Given the description of an element on the screen output the (x, y) to click on. 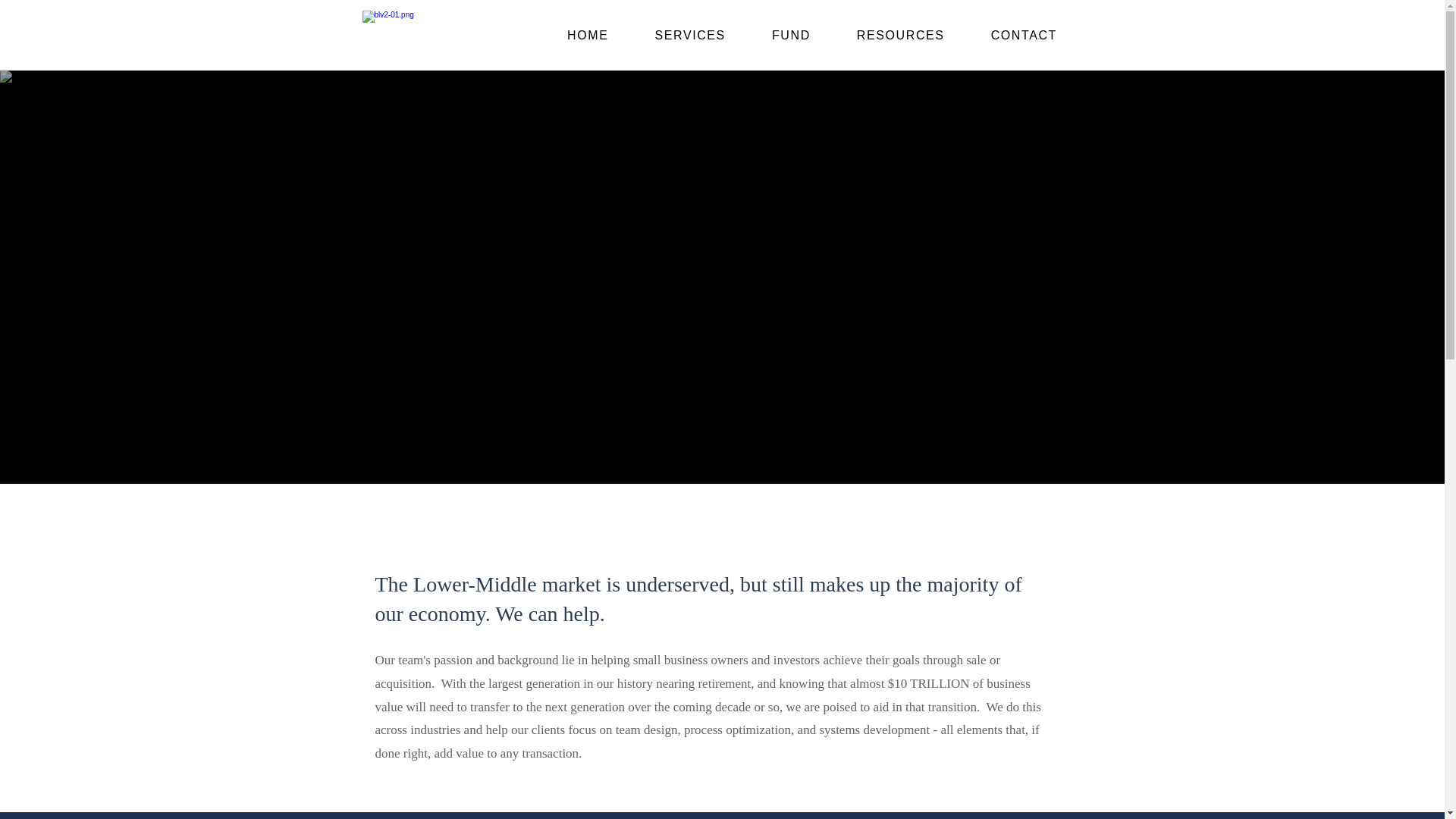
RESOURCES (899, 36)
CONTACT (1024, 36)
HOME (587, 36)
SERVICES (689, 36)
FUND (790, 36)
